Given the description of an element on the screen output the (x, y) to click on. 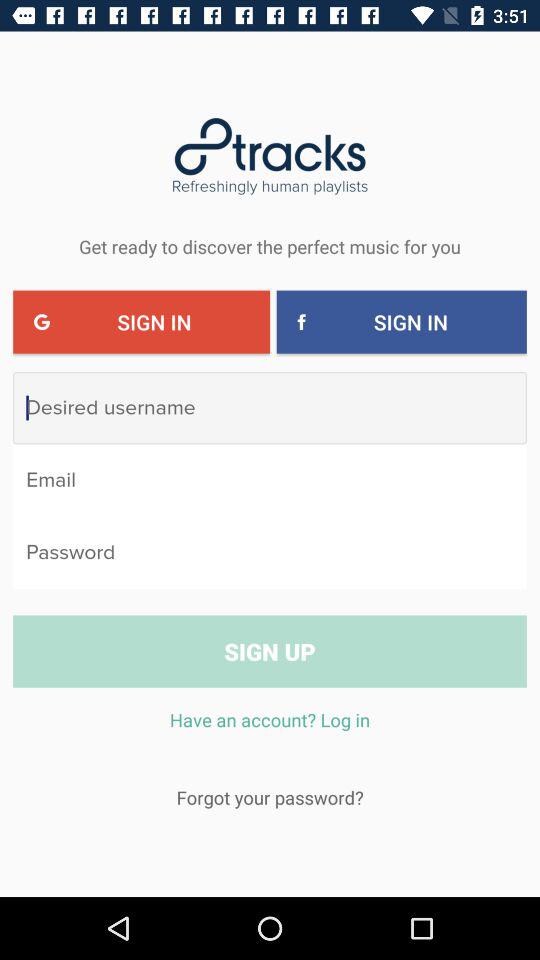
toggle autoplay option (269, 552)
